Given the description of an element on the screen output the (x, y) to click on. 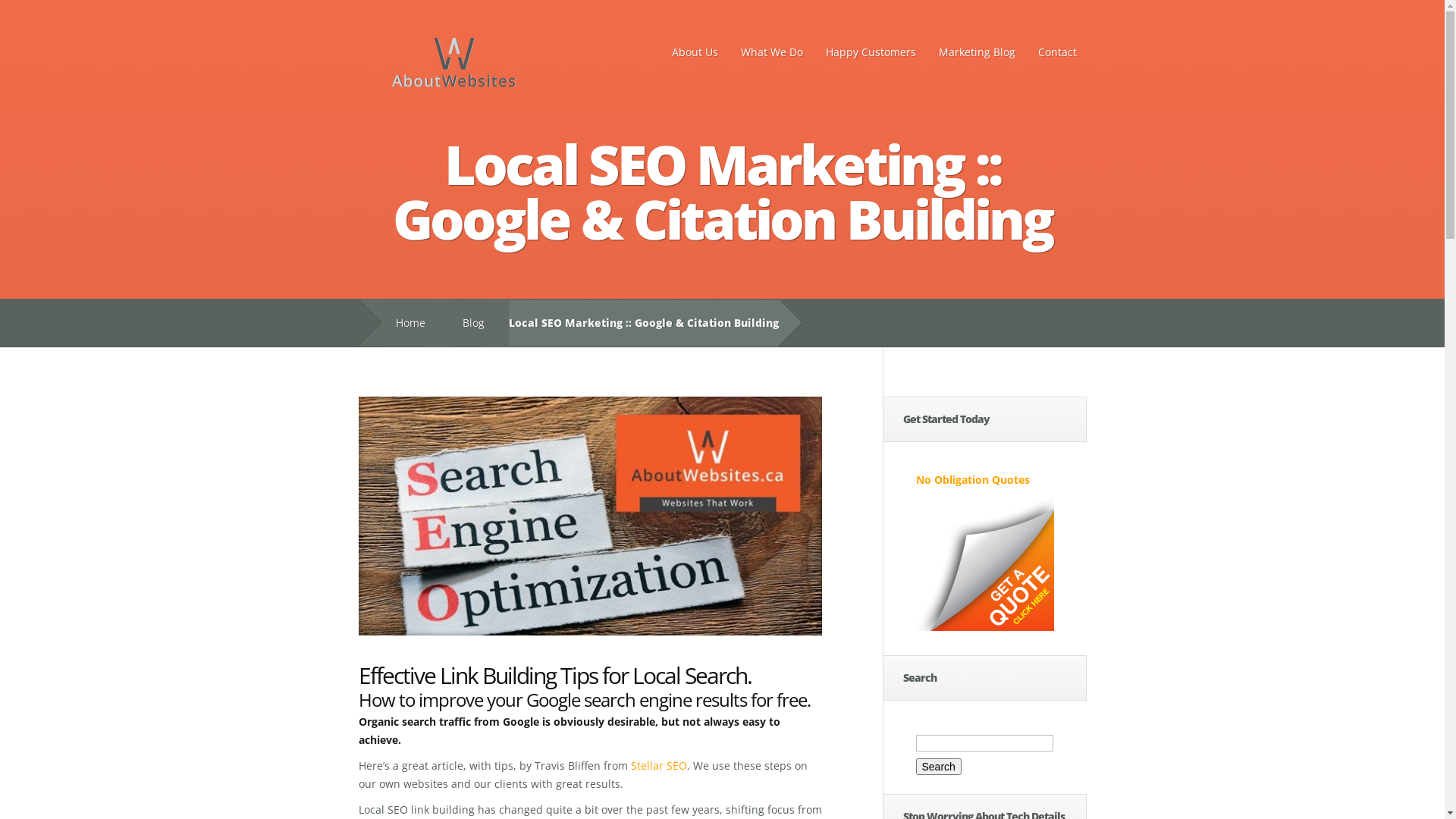
Blog Element type: text (465, 323)
Home Element type: text (403, 323)
What We Do Element type: text (771, 52)
Contact Element type: text (1057, 52)
Stellar SEO Element type: text (658, 765)
No Obligation Quotes Element type: text (972, 479)
Marketing Blog Element type: text (976, 52)
Search Element type: text (938, 766)
About Us Element type: text (694, 52)
Happy Customers Element type: text (870, 52)
